Given the description of an element on the screen output the (x, y) to click on. 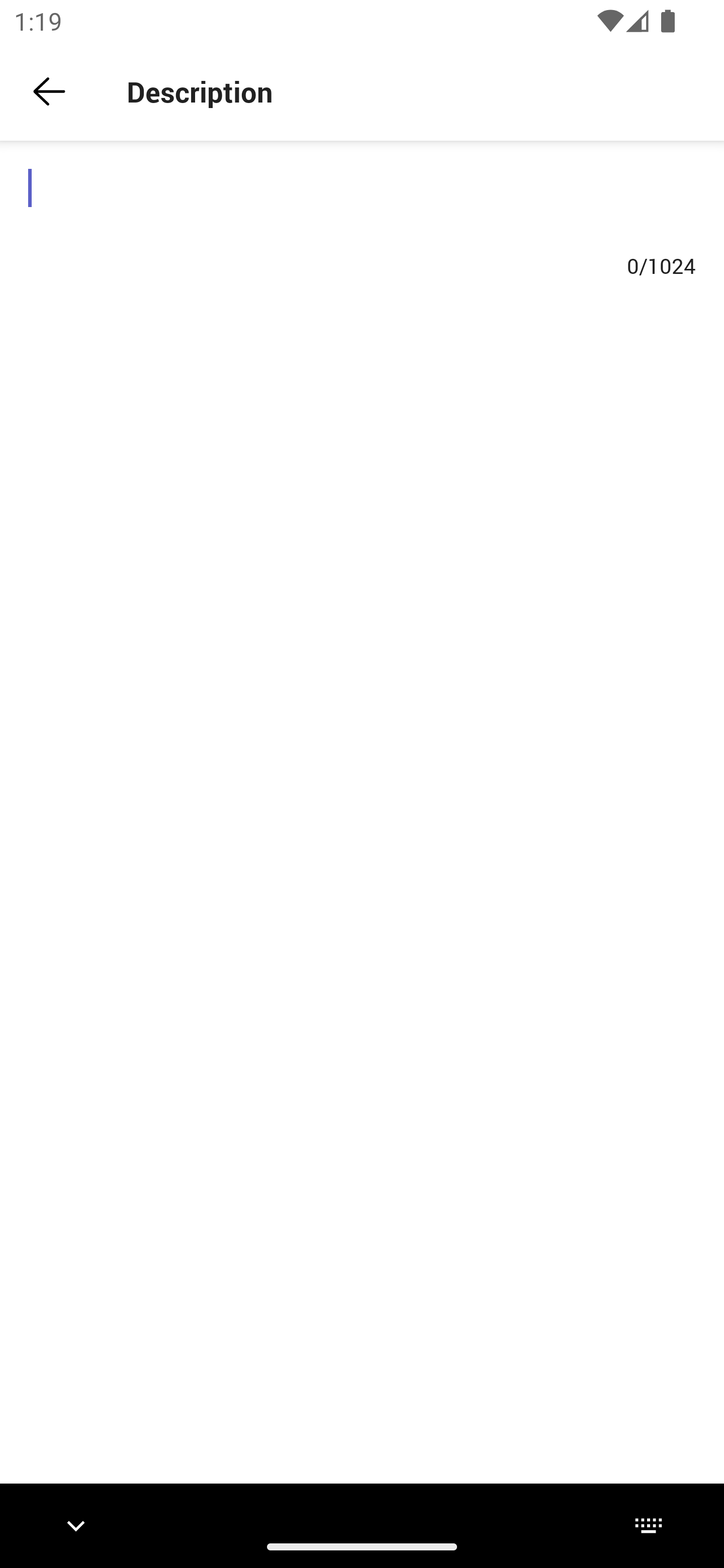
Back (49, 91)
